Given the description of an element on the screen output the (x, y) to click on. 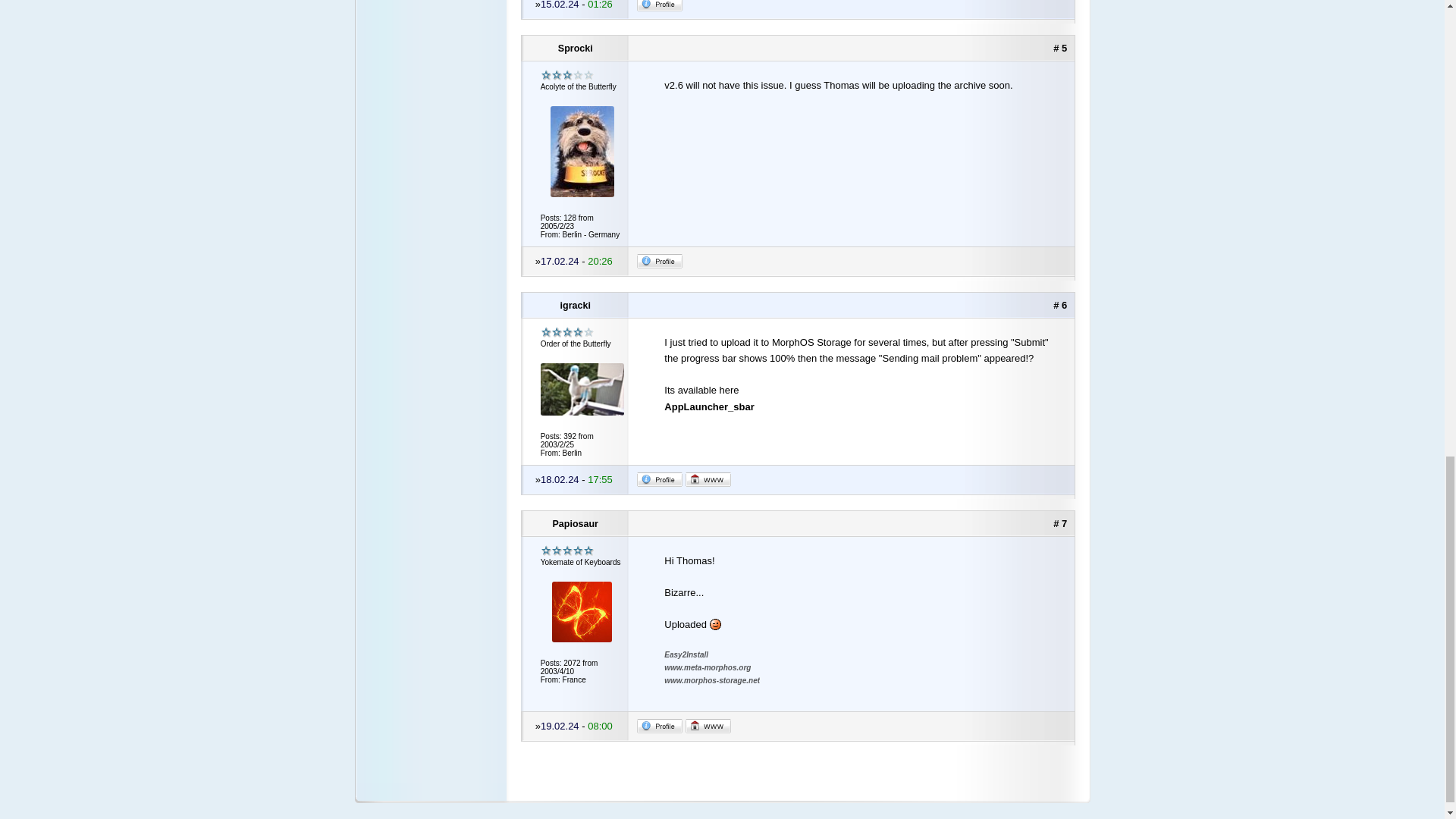
Sprocki (575, 48)
www.meta-morphos.org (707, 667)
Show alone this post... (1059, 48)
Acolyte of the Butterfly (567, 75)
Show alone this post... (1059, 523)
Show alone this post... (1059, 305)
Yokemate of Keyboards (567, 550)
Papiosaur (575, 523)
www.morphos-storage.net (711, 680)
igracki (575, 305)
Easy2Install (685, 654)
Order of the Butterfly (567, 332)
